Given the description of an element on the screen output the (x, y) to click on. 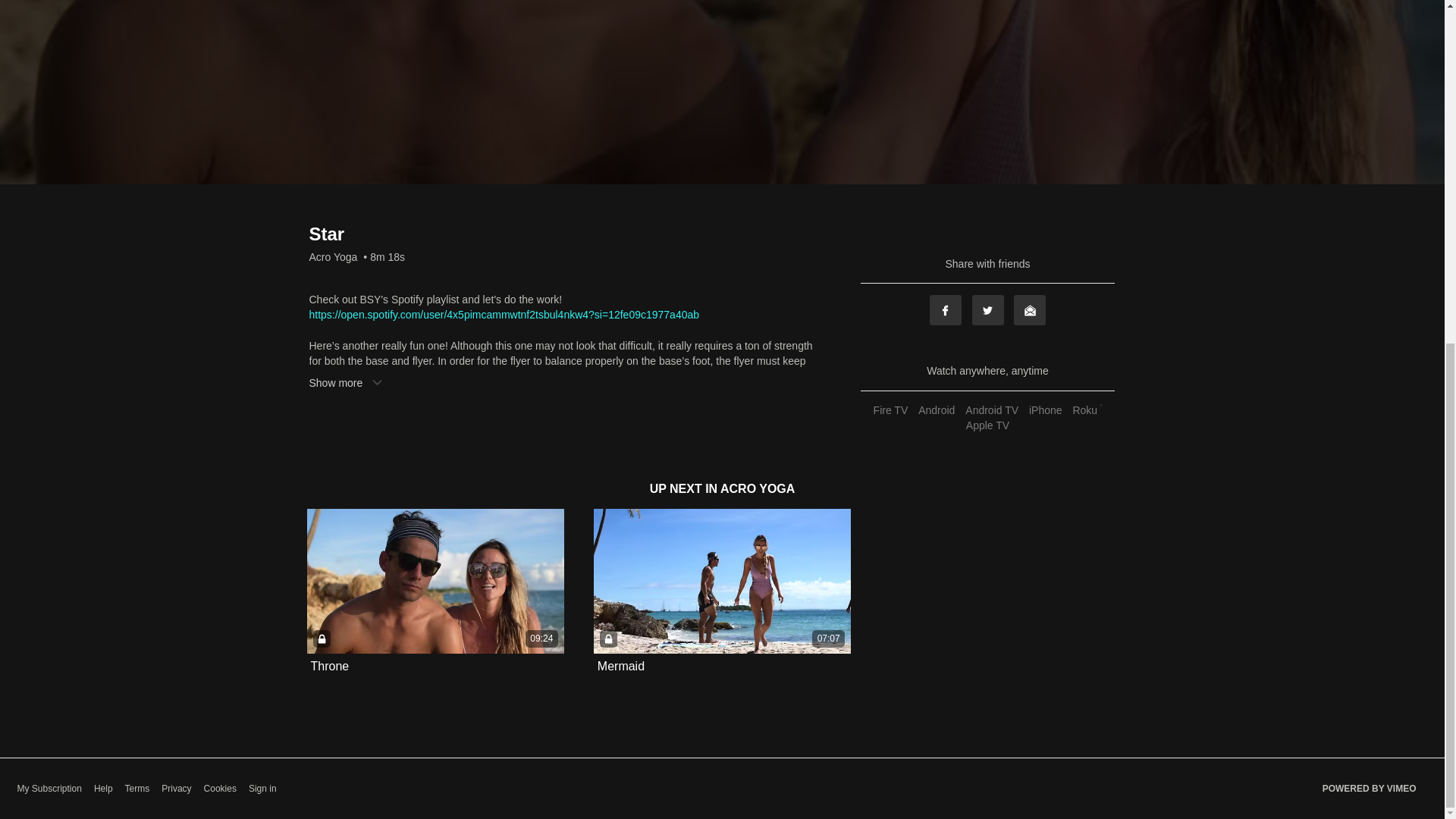
Throne (330, 666)
iPhone (1045, 410)
Help (103, 788)
09:24 (434, 580)
Android (936, 410)
ACRO YOGA (757, 488)
Mermaid (620, 666)
Apple TV (987, 425)
Acro Yoga (333, 256)
07:07 (722, 580)
Android TV (991, 410)
My Subscription (48, 788)
Twitter (988, 309)
Facebook (945, 309)
Email (1029, 309)
